Given the description of an element on the screen output the (x, y) to click on. 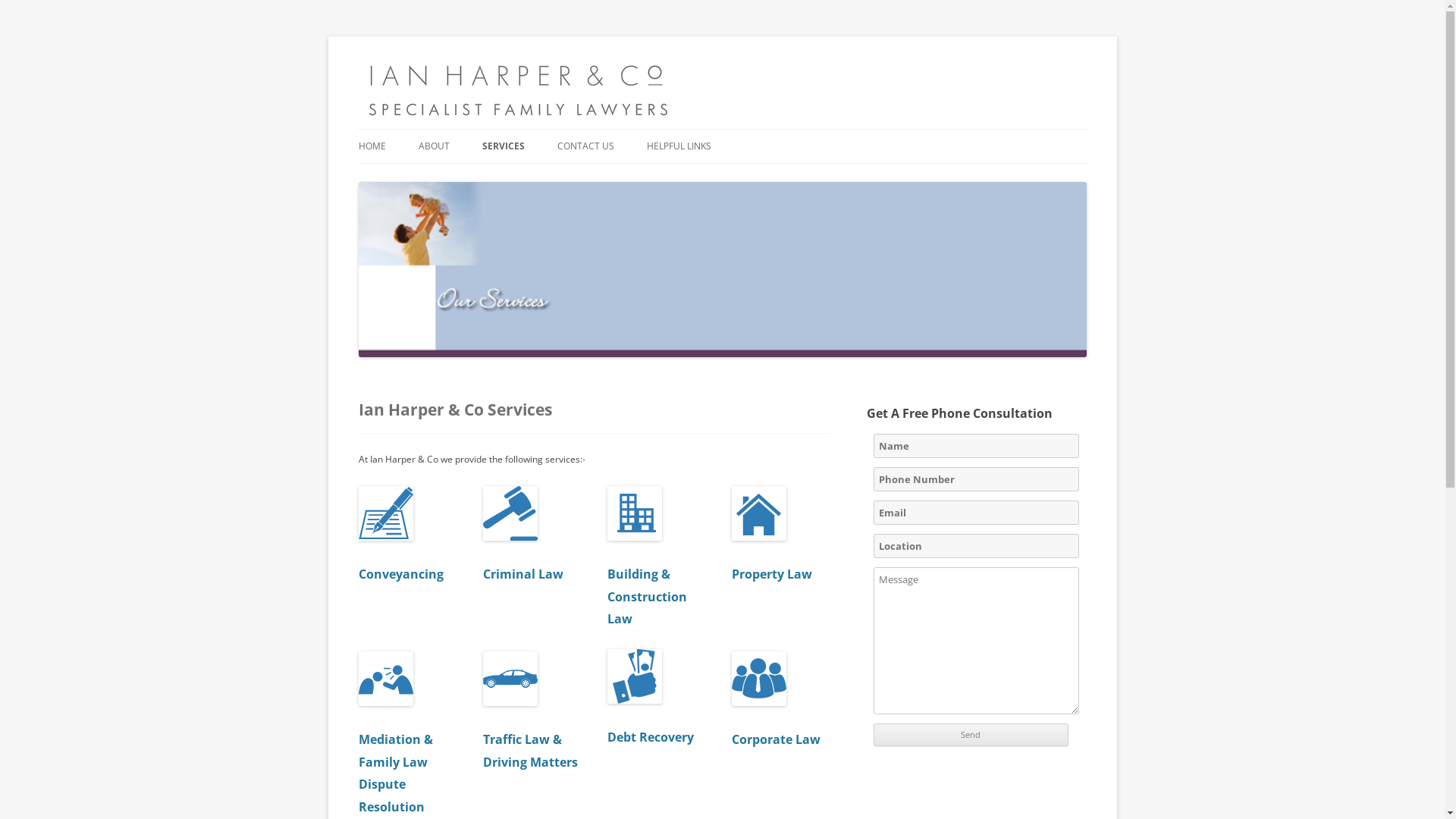
Building & Construction Law Element type: text (657, 558)
SERVICES Element type: text (503, 146)
Property Law Element type: text (781, 567)
Criminal Law Element type: text (533, 567)
HOME Element type: text (371, 146)
HELPFUL LINKS Element type: text (678, 146)
ABOUT Element type: text (433, 146)
Conveyancing Element type: text (407, 567)
Skip to content Element type: text (881, 72)
CONTACT US Element type: text (584, 146)
Send Element type: text (970, 734)
